Given the description of an element on the screen output the (x, y) to click on. 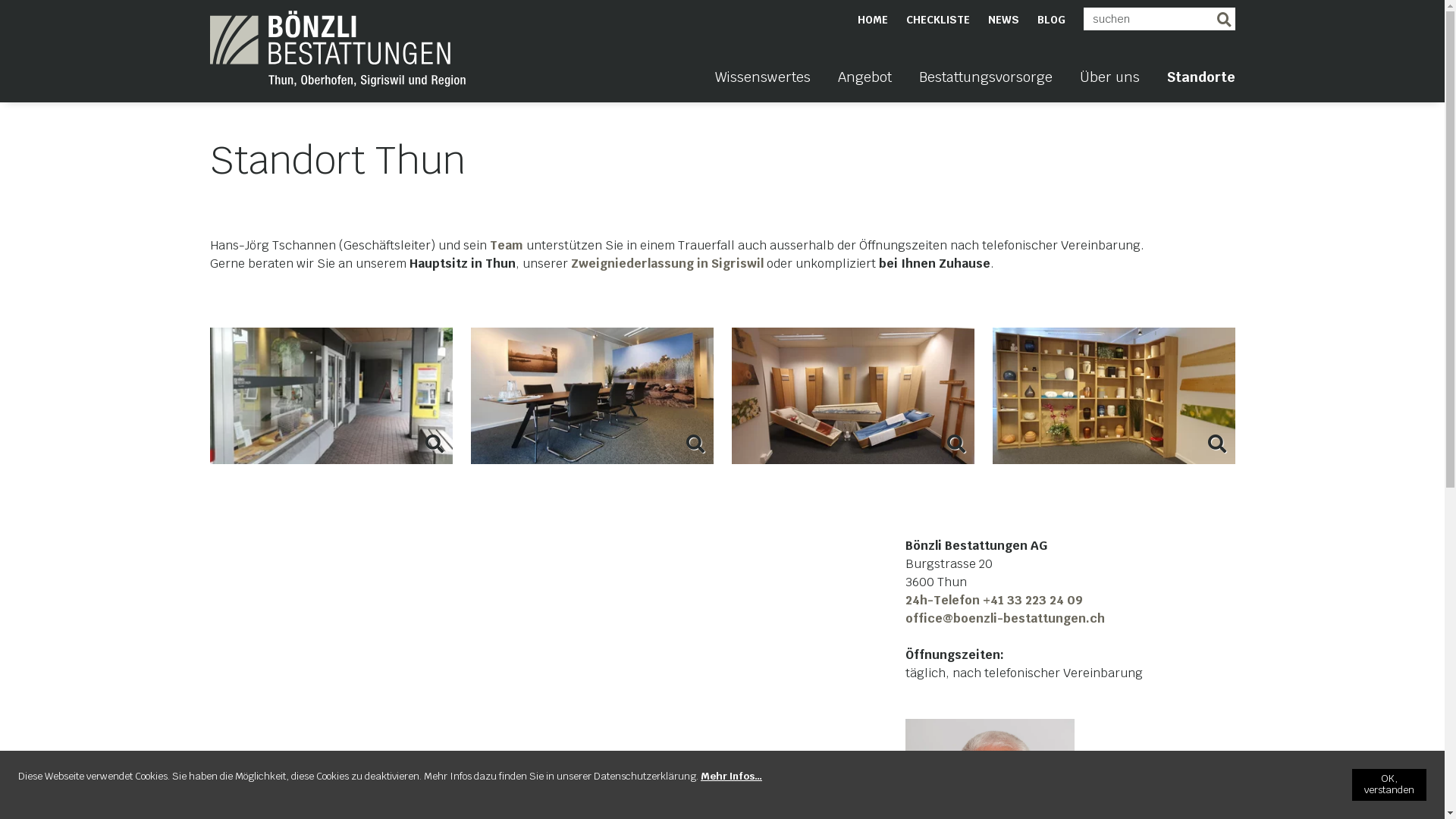
NEWS Element type: text (1002, 19)
Team Element type: text (506, 245)
24h-Telefon Element type: text (943, 600)
CHECKLISTE Element type: text (937, 19)
HOME Element type: text (871, 19)
+41 33 223 24 09 Element type: text (1032, 600)
Zweigniederlassung in Sigriswil Element type: text (667, 263)
office@boenzli-bestattungen.ch Element type: text (1004, 618)
Seiten durchsuchen Element type: hover (1222, 18)
Bestattungsvorsorge Element type: text (985, 85)
BLOG Element type: text (1051, 19)
Wissenswertes Element type: text (761, 85)
Angebot Element type: text (864, 85)
Standorte Element type: text (1200, 85)
